Given the description of an element on the screen output the (x, y) to click on. 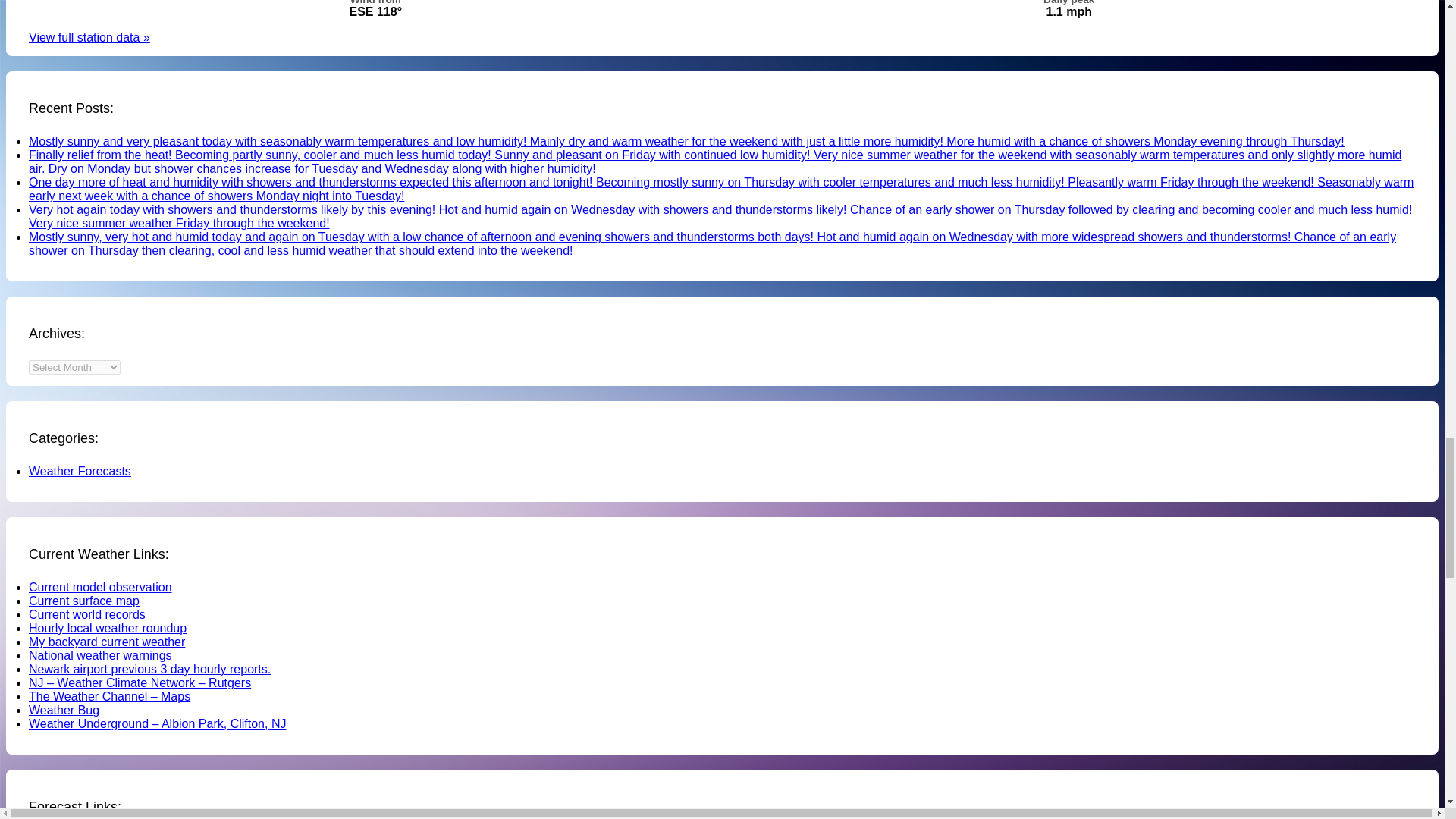
Weather Bug (64, 709)
Current surface map (84, 600)
Newark airport previous 3 day hourly reports. (149, 668)
Weather Forecasts (80, 471)
Hourly local weather roundup (107, 627)
National weather warnings (100, 655)
Current model observation (100, 586)
My backyard current weather (106, 641)
Current world records (87, 614)
